Given the description of an element on the screen output the (x, y) to click on. 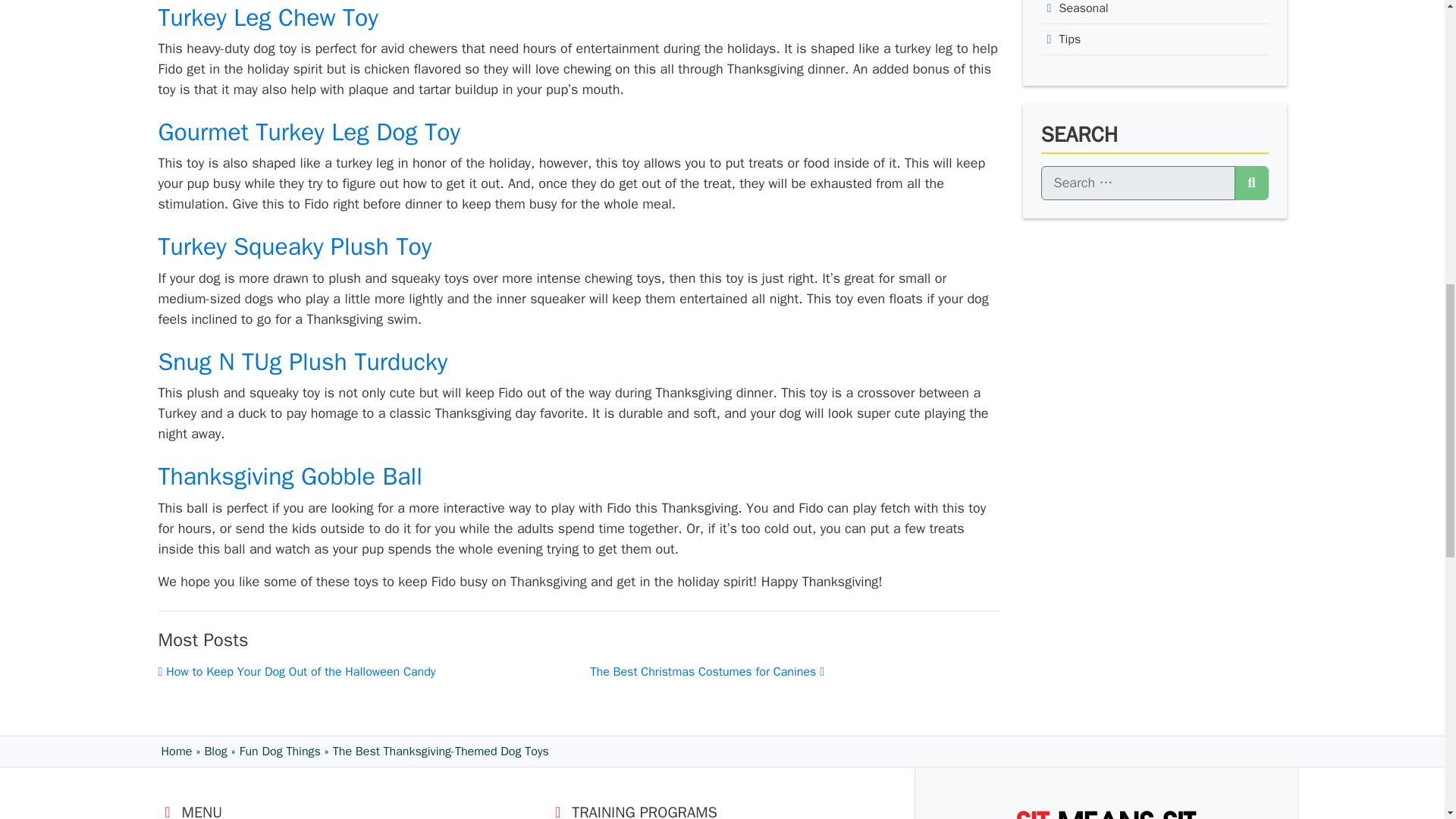
Gourmet Turkey Leg Dog Toy (308, 132)
Thanksgiving Gobble Ball (289, 476)
Turkey Leg Chew Toy (267, 17)
Snug N TUg Plush Turducky (301, 361)
The Best Christmas Costumes for Canines (706, 671)
Turkey Squeaky Plush Toy (293, 246)
How to Keep Your Dog Out of the Halloween Candy (296, 671)
Sit Means Sit College Station (1106, 811)
